Given the description of an element on the screen output the (x, y) to click on. 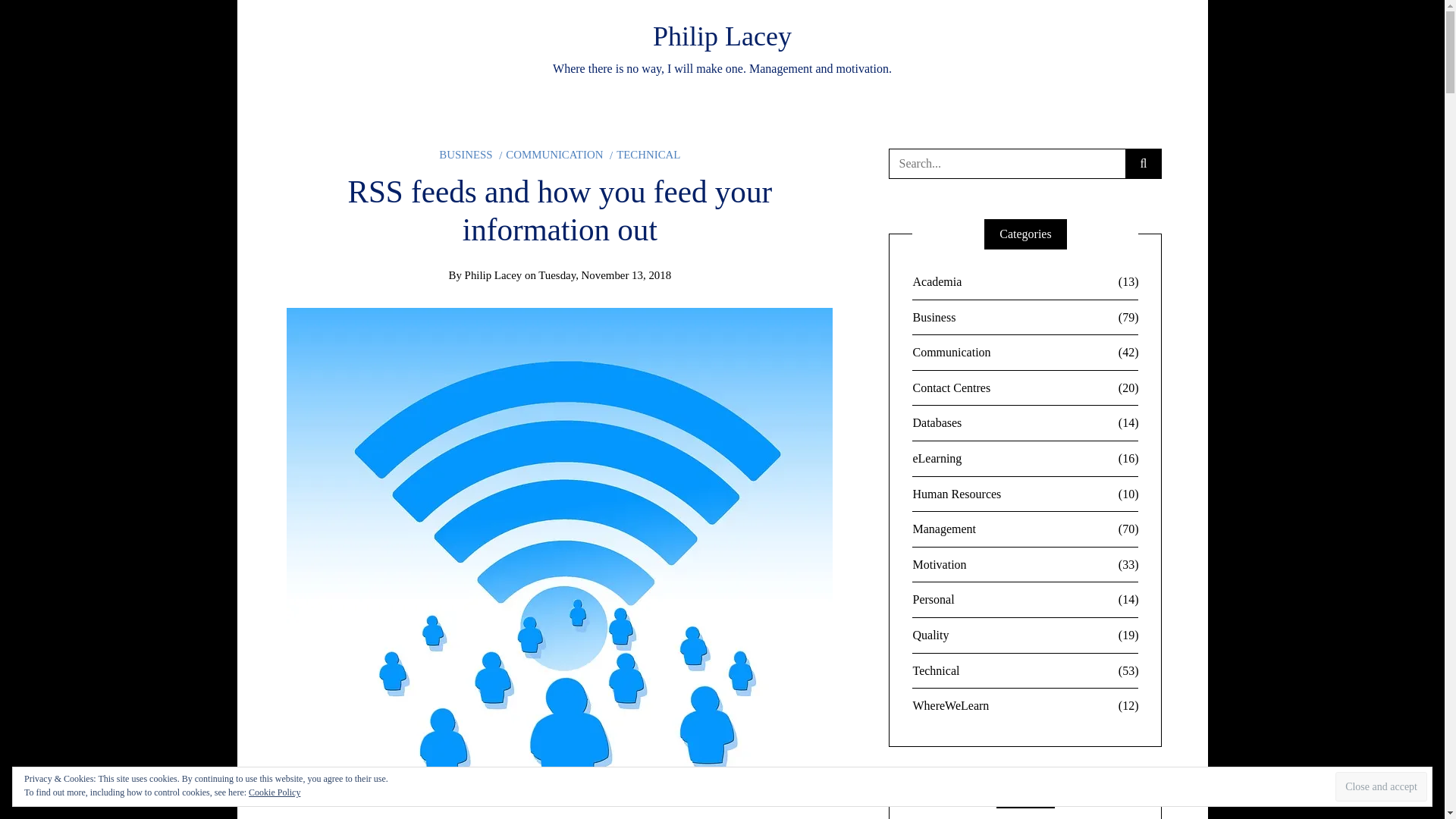
BUSINESS (465, 154)
Tuesday, November 13, 2018 (604, 275)
Philip Lacey (722, 36)
Close and accept (1380, 786)
Philip Lacey (493, 275)
Posts by Philip Lacey (493, 275)
TECHNICAL (644, 154)
COMMUNICATION (550, 154)
